Given the description of an element on the screen output the (x, y) to click on. 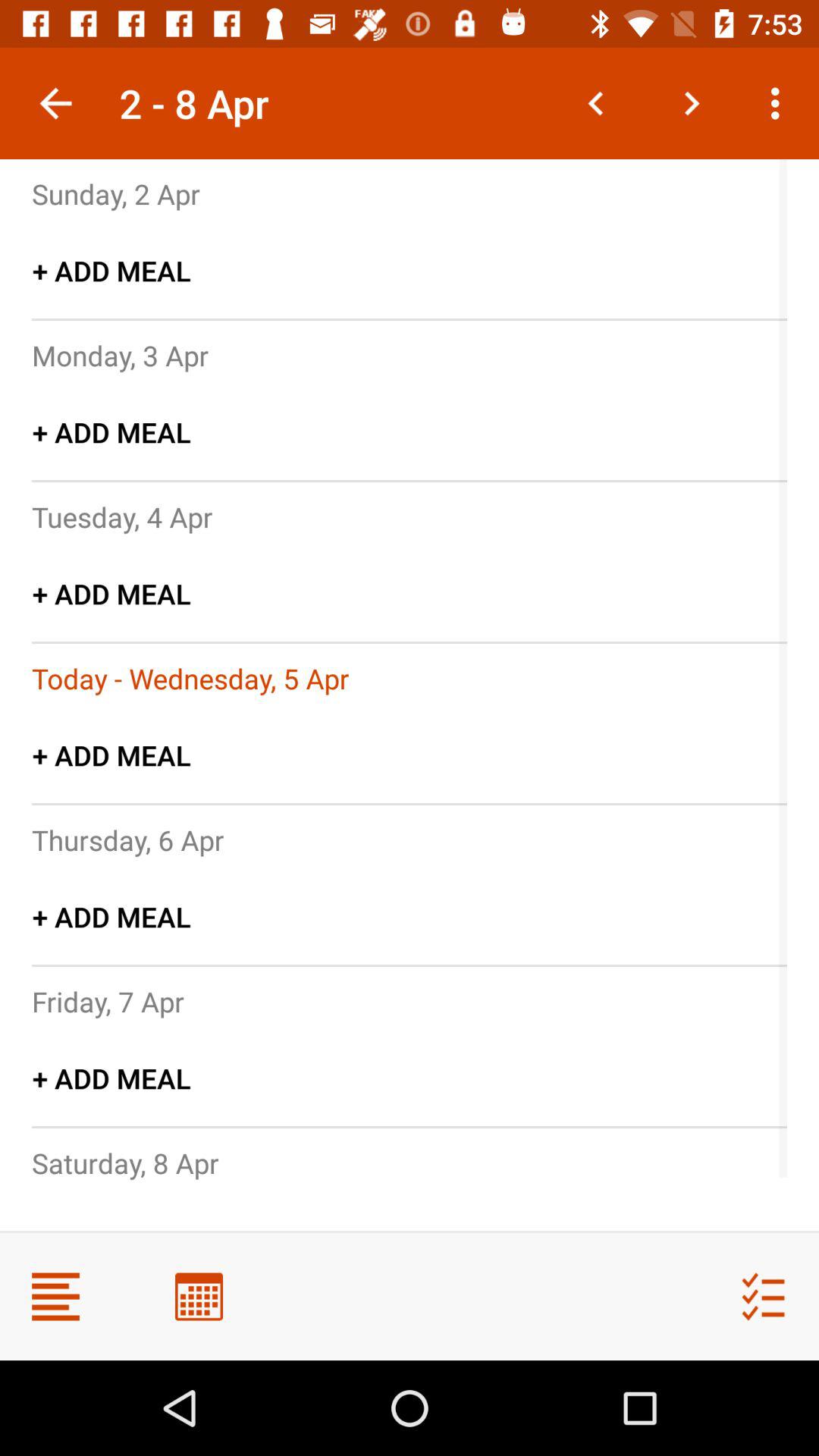
turn on icon above the sunday, 2 apr item (55, 103)
